Given the description of an element on the screen output the (x, y) to click on. 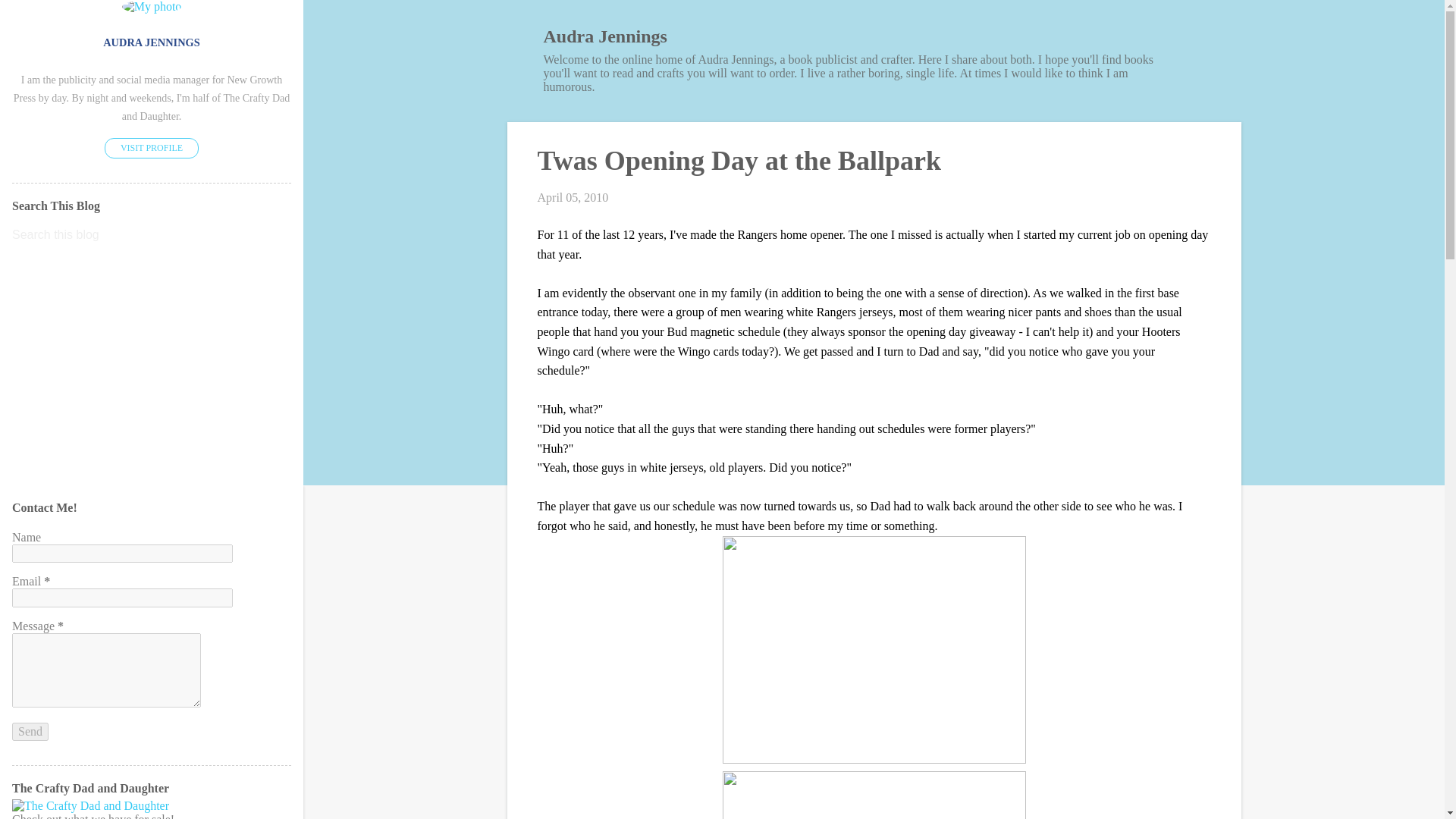
VISIT PROFILE (151, 148)
Audra Jennings (604, 35)
AUDRA JENNINGS (151, 42)
permanent link (572, 196)
April 05, 2010 (572, 196)
Search (31, 18)
Send (29, 731)
